Given the description of an element on the screen output the (x, y) to click on. 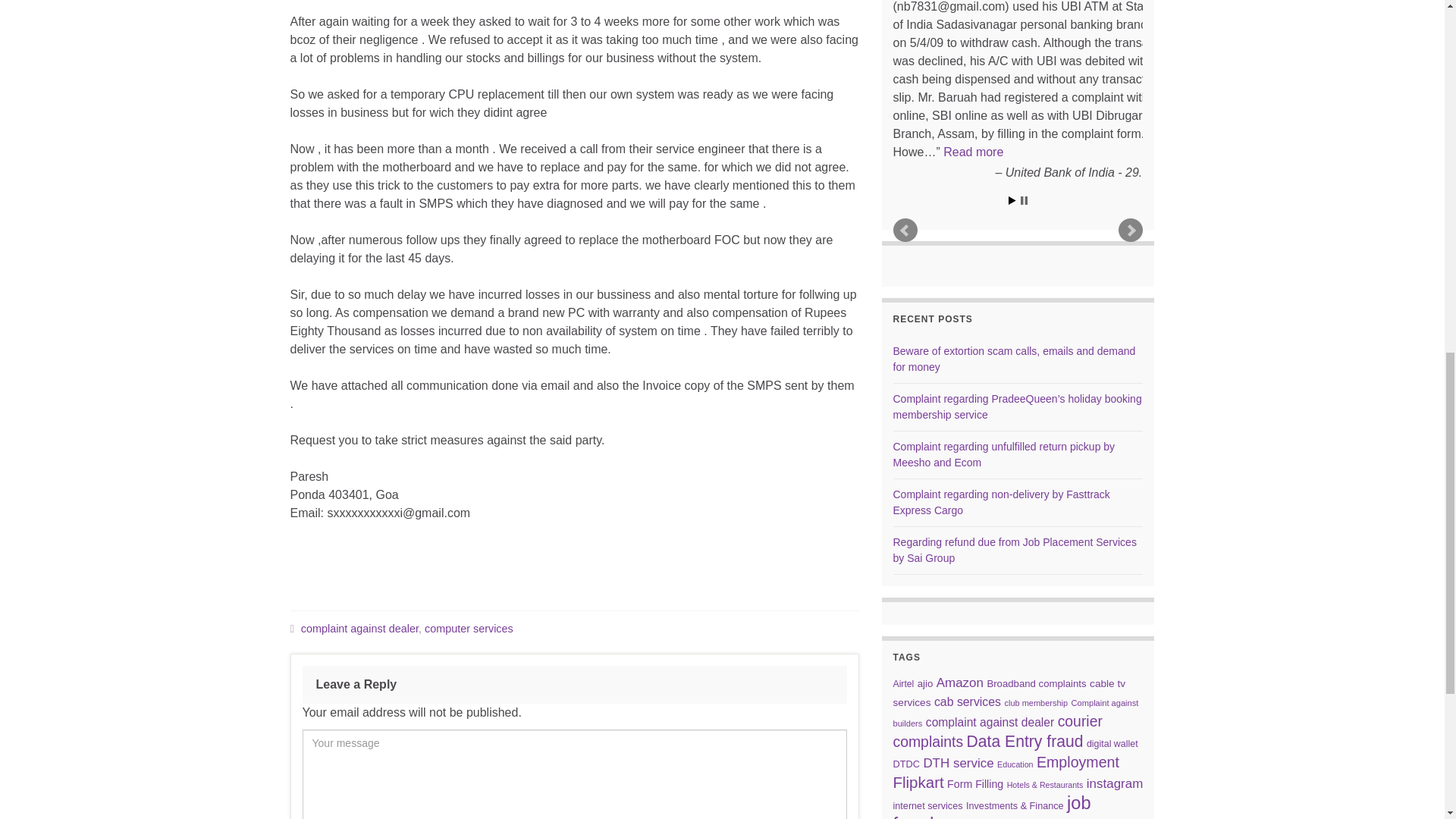
Beware of extortion scam calls, emails and demand for money (1014, 358)
Complaint regarding non-delivery by Fasttrack Express Cargo (1001, 502)
complaint against dealer (360, 628)
Next (1130, 230)
Airtel (903, 683)
computer services (469, 628)
Start (1012, 200)
Prev (905, 230)
Read more (973, 151)
